Given the description of an element on the screen output the (x, y) to click on. 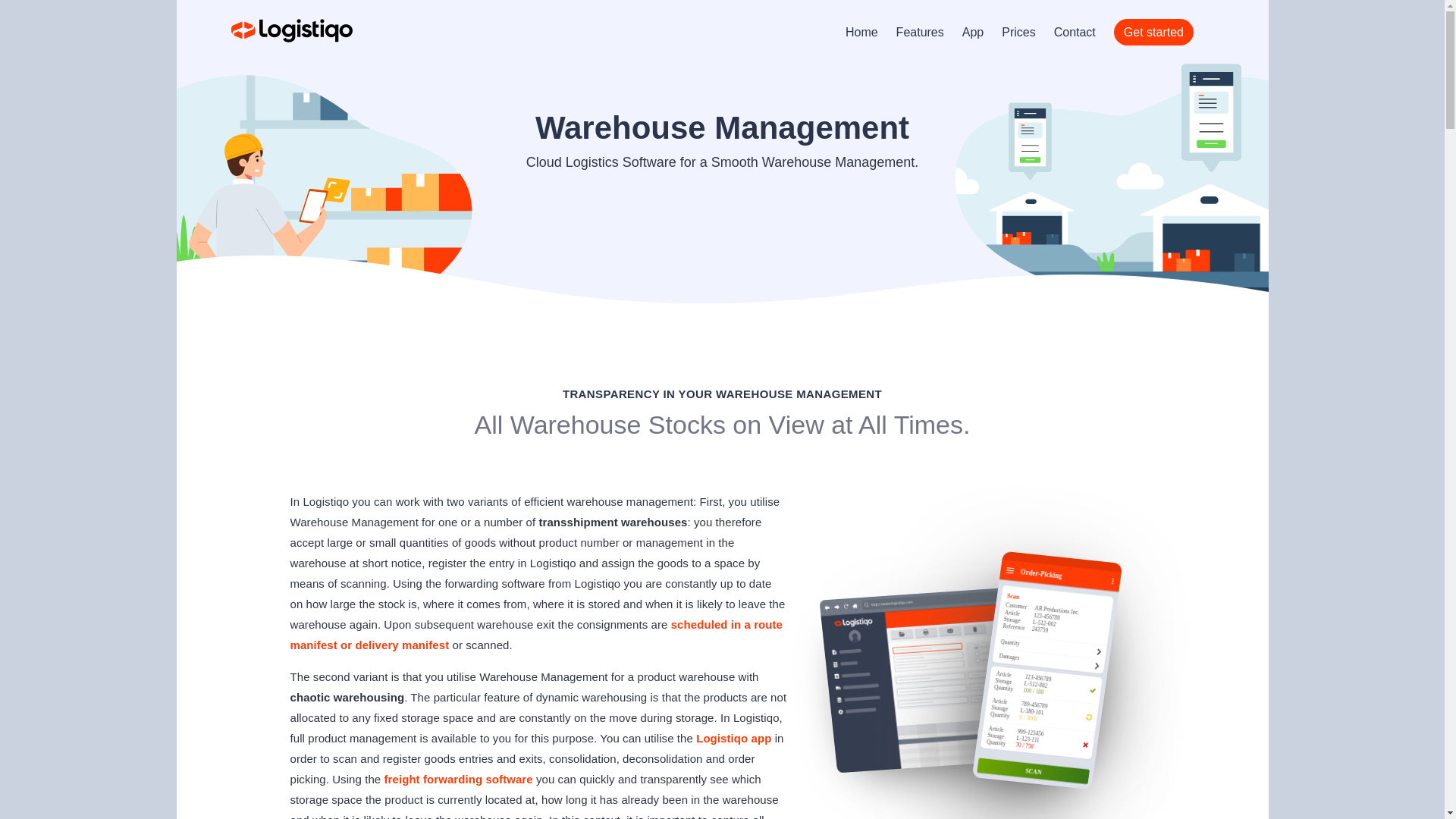
App (973, 31)
freight forwarding software (458, 779)
Features (919, 31)
Get started (1153, 31)
Contact (1075, 31)
Prices (1018, 31)
Logistiqo app (733, 738)
scheduled in a route manifest or delivery manifest (536, 634)
Home (861, 31)
